Given the description of an element on the screen output the (x, y) to click on. 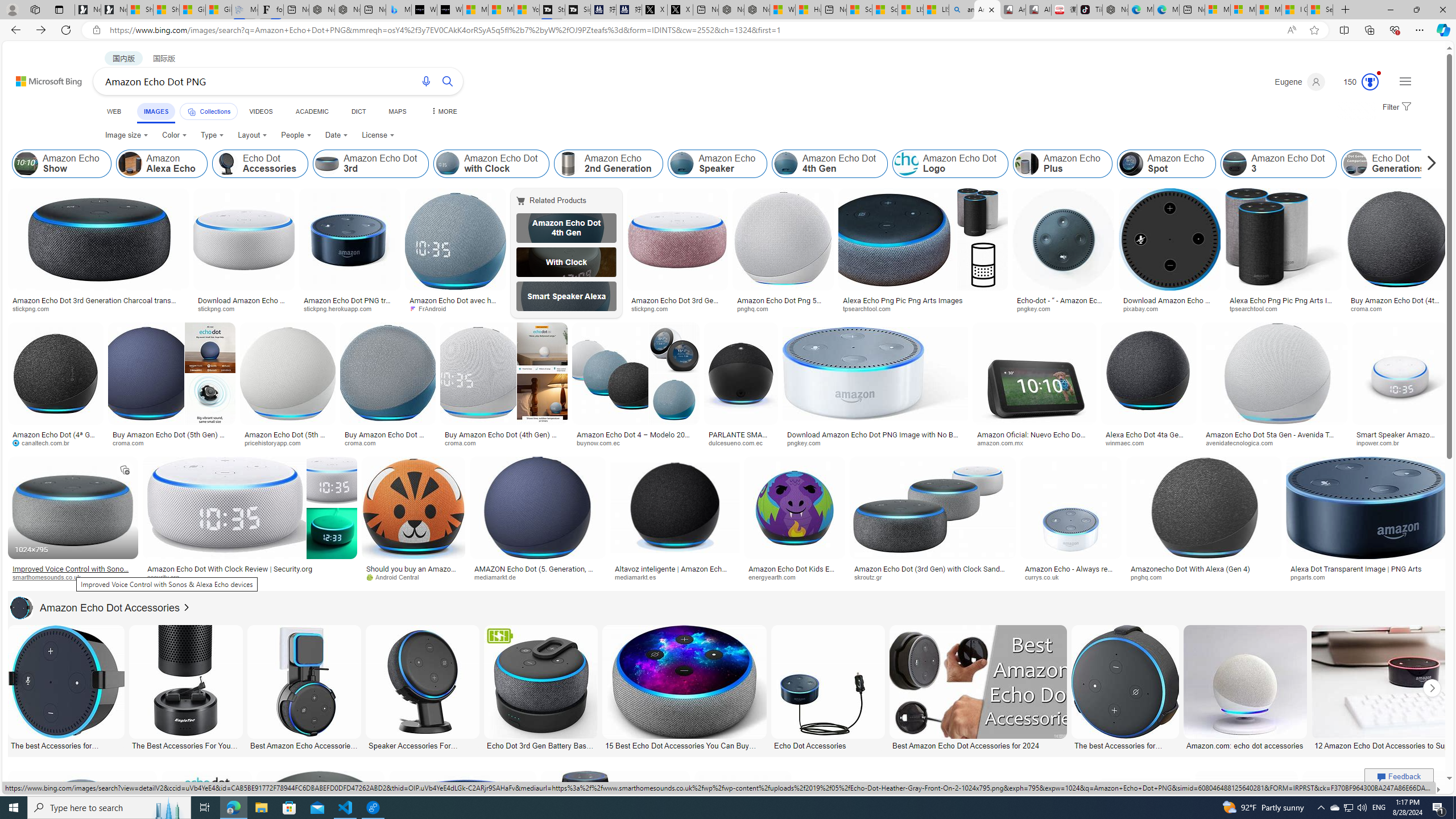
FrAndroid (455, 308)
Search using voice (426, 80)
Echo Dot Accessories (828, 744)
License (378, 135)
tpsearchtool.com (1257, 308)
People (295, 135)
